Given the description of an element on the screen output the (x, y) to click on. 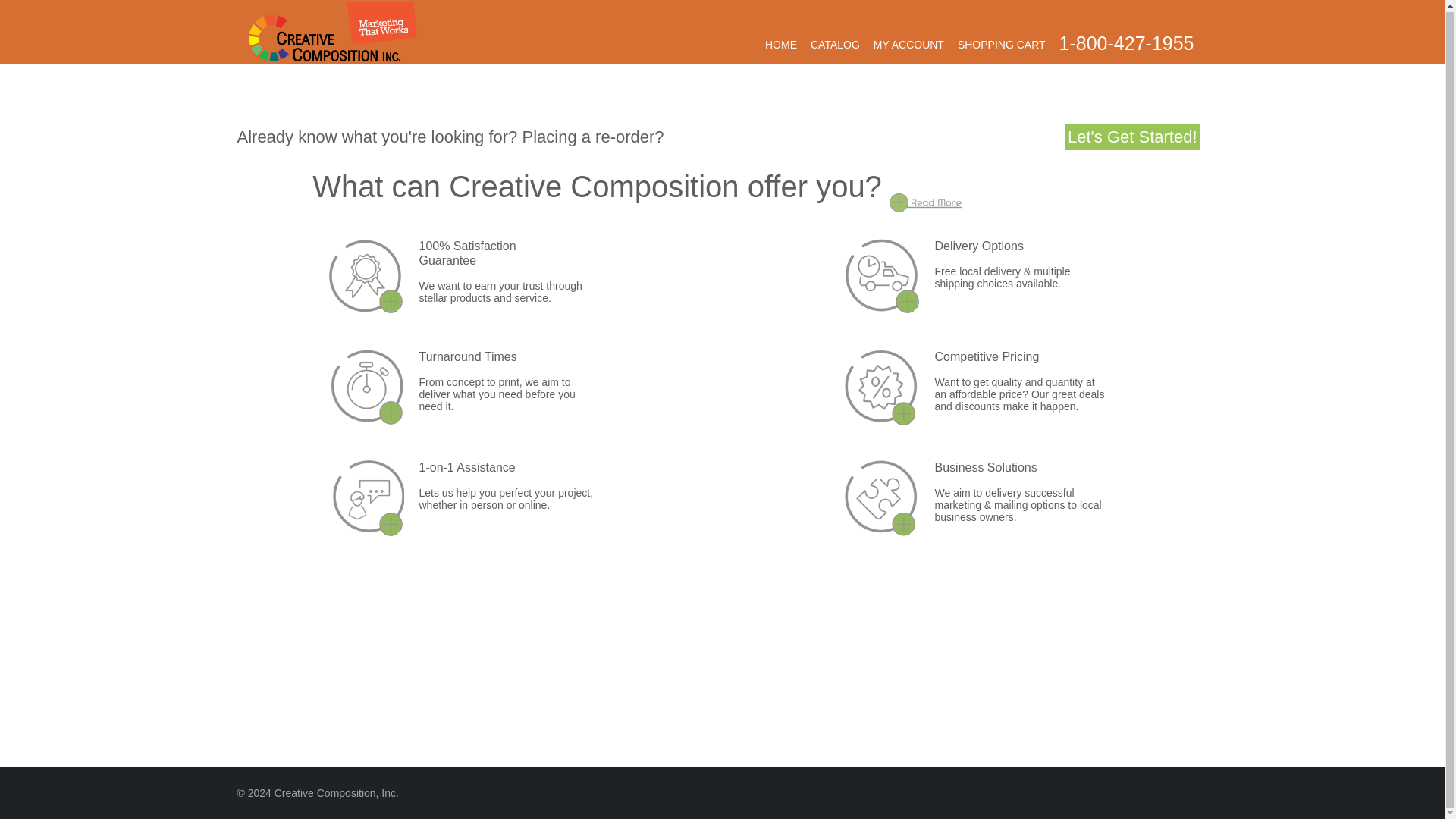
CATALOG (835, 44)
1-800-427-1955 (1126, 43)
SHOPPING CART (1001, 44)
HOME (780, 44)
MY ACCOUNT (908, 44)
